Given the description of an element on the screen output the (x, y) to click on. 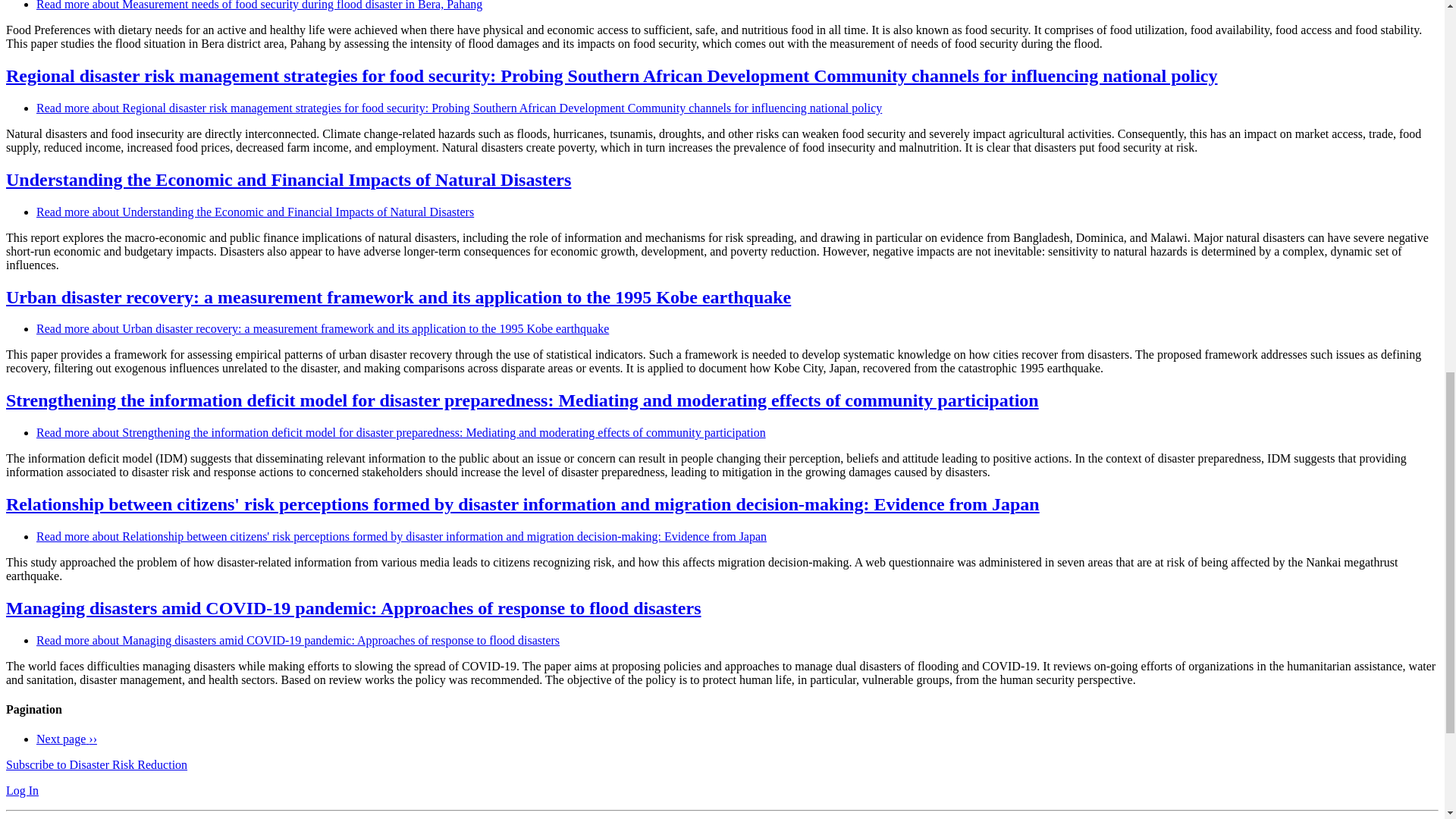
Go to next page (66, 738)
